Given the description of an element on the screen output the (x, y) to click on. 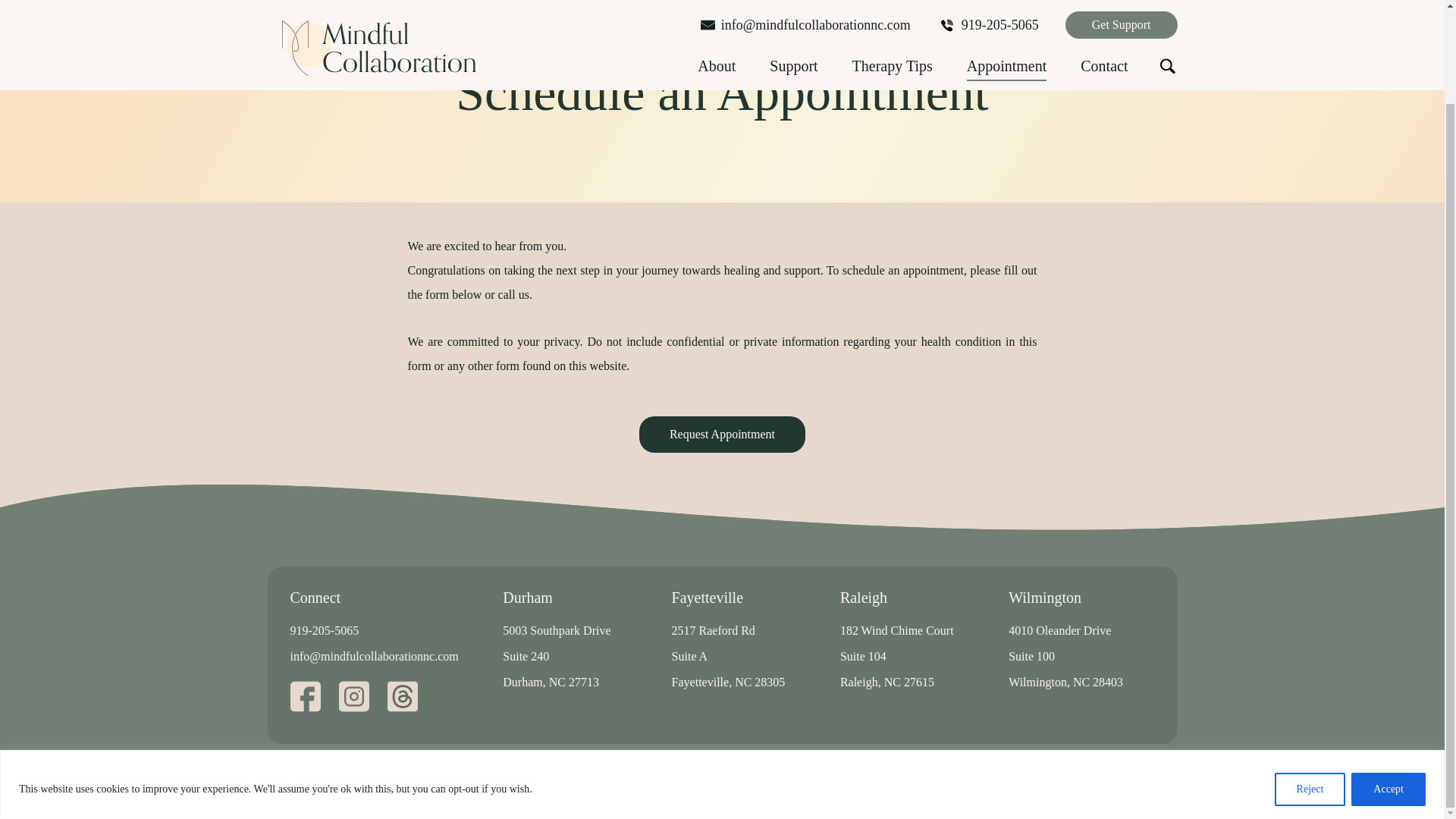
Accept (1388, 680)
Reject (1310, 680)
